Given the description of an element on the screen output the (x, y) to click on. 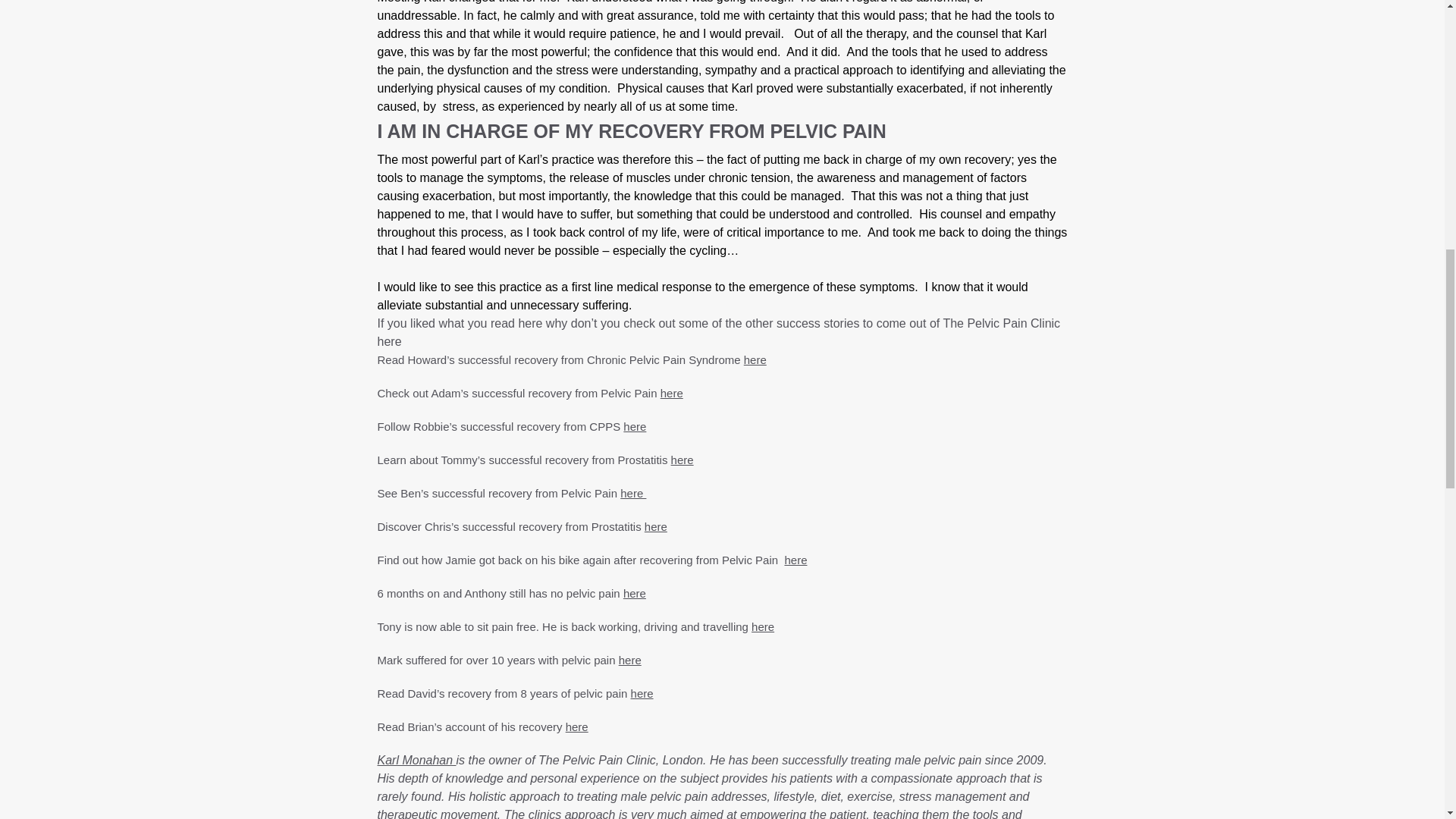
Karl Monahan (417, 759)
here (655, 526)
here  (633, 492)
here (671, 392)
here (795, 559)
here (641, 693)
here (634, 593)
here (682, 459)
here (755, 359)
here (577, 726)
here (762, 626)
here (630, 659)
here (634, 426)
